Given the description of an element on the screen output the (x, y) to click on. 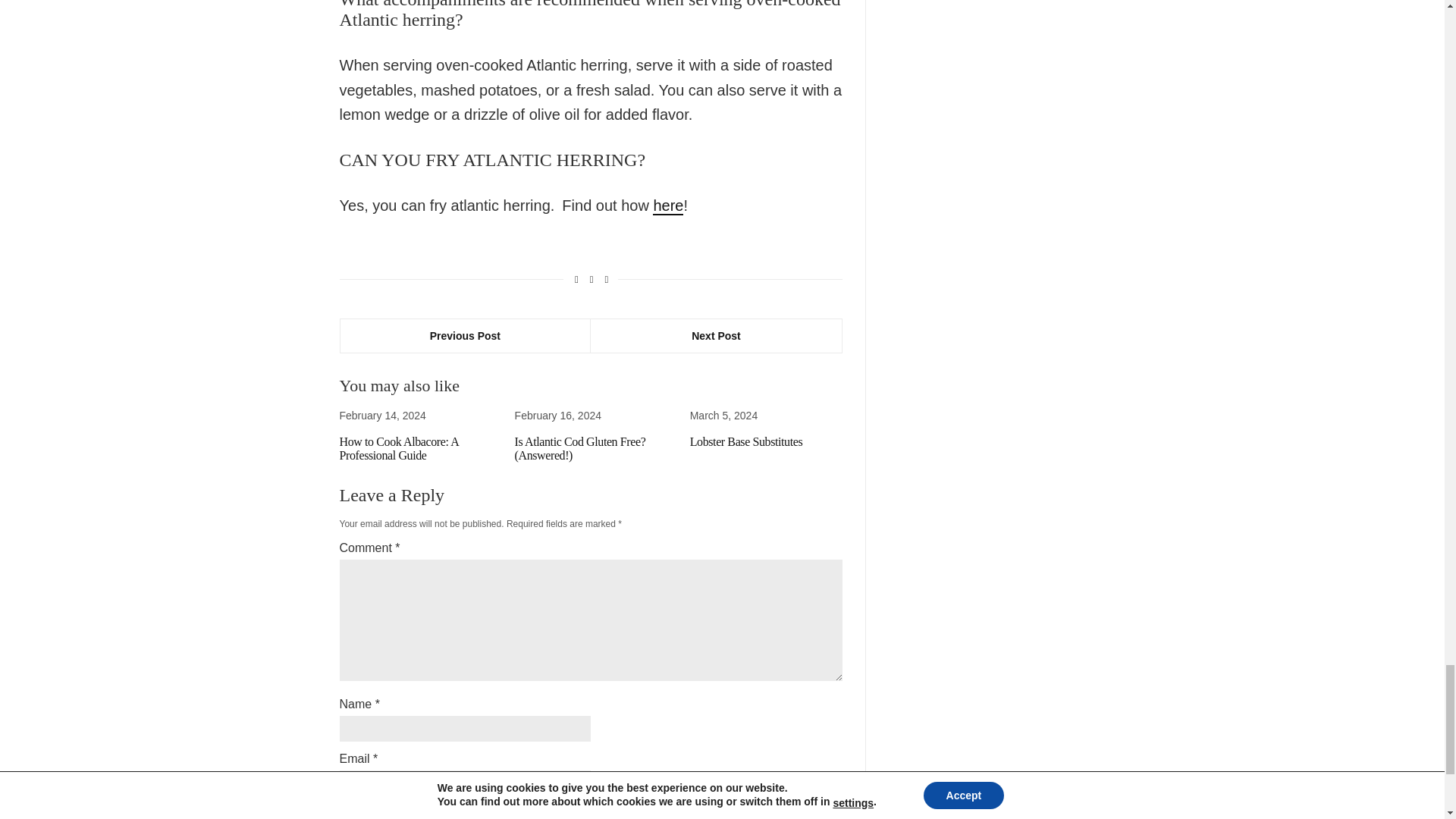
here (667, 206)
How to Cook Albacore: A Professional Guide (398, 447)
Next Post (716, 335)
Lobster Base Substitutes (746, 440)
Previous Post (465, 335)
